Given the description of an element on the screen output the (x, y) to click on. 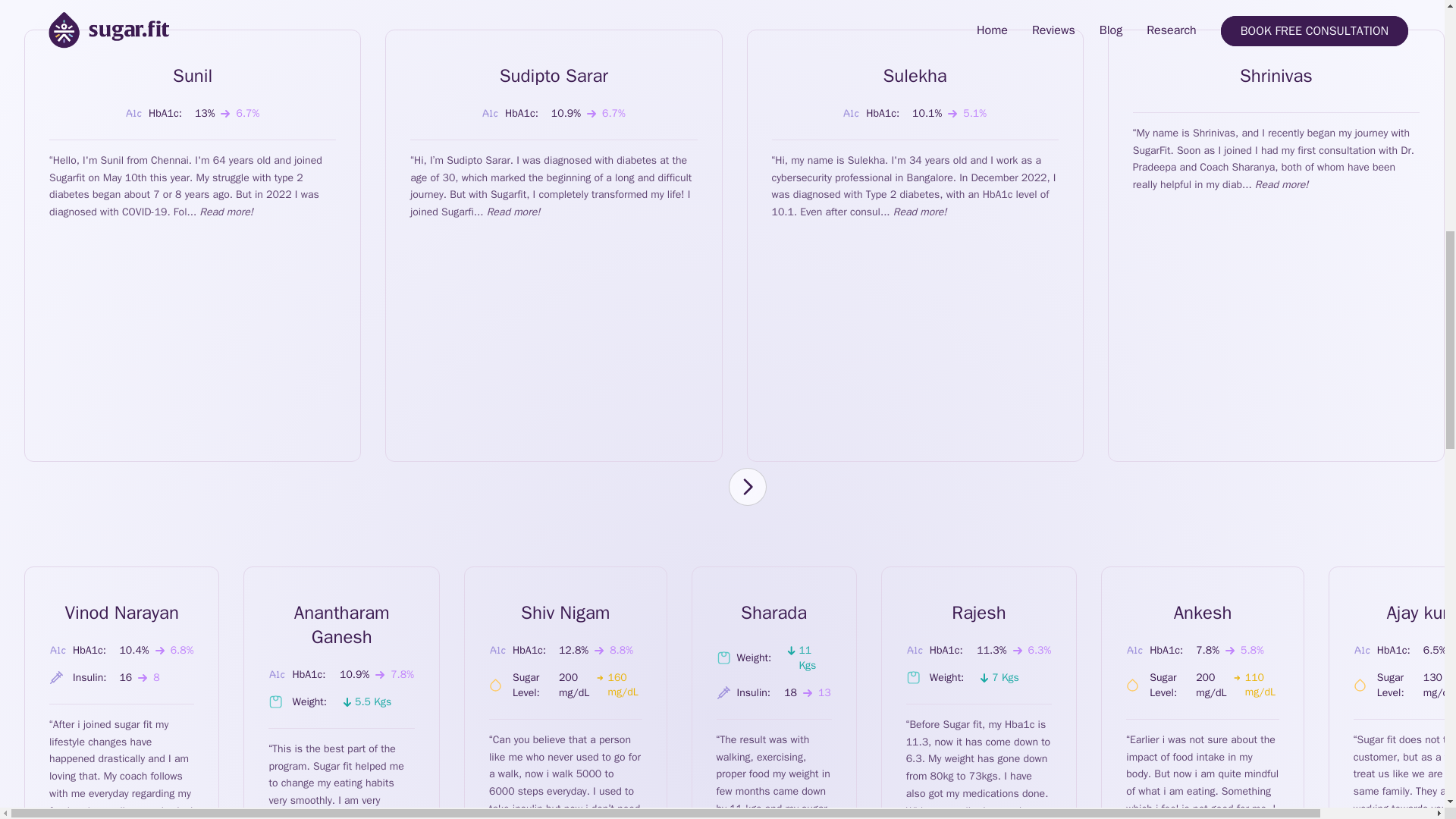
Read more! (513, 211)
Read more! (226, 211)
Read more! (920, 211)
Read more! (1281, 184)
